Given the description of an element on the screen output the (x, y) to click on. 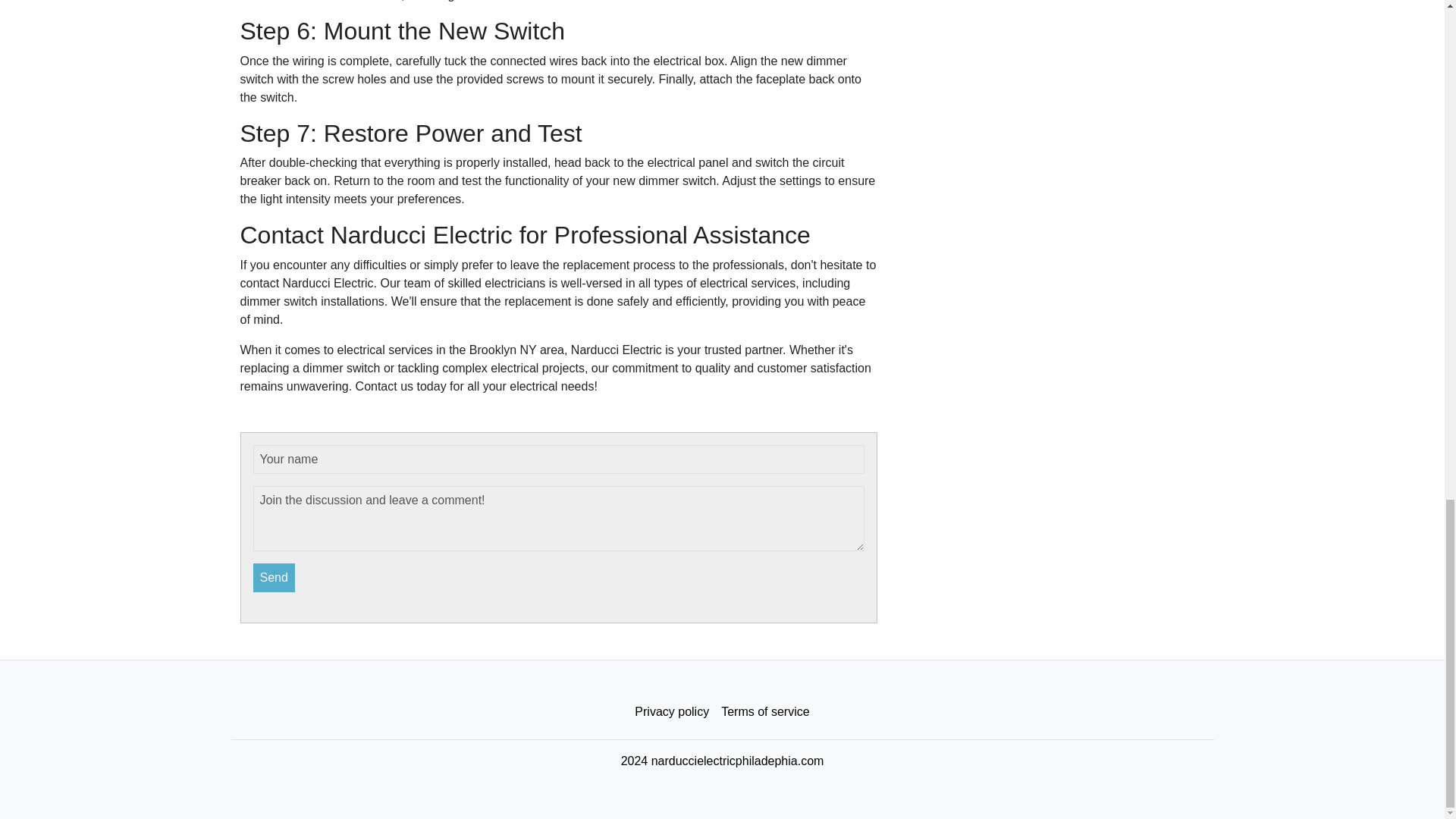
Send (274, 577)
Terms of service (764, 711)
Send (274, 577)
Privacy policy (671, 711)
